Given the description of an element on the screen output the (x, y) to click on. 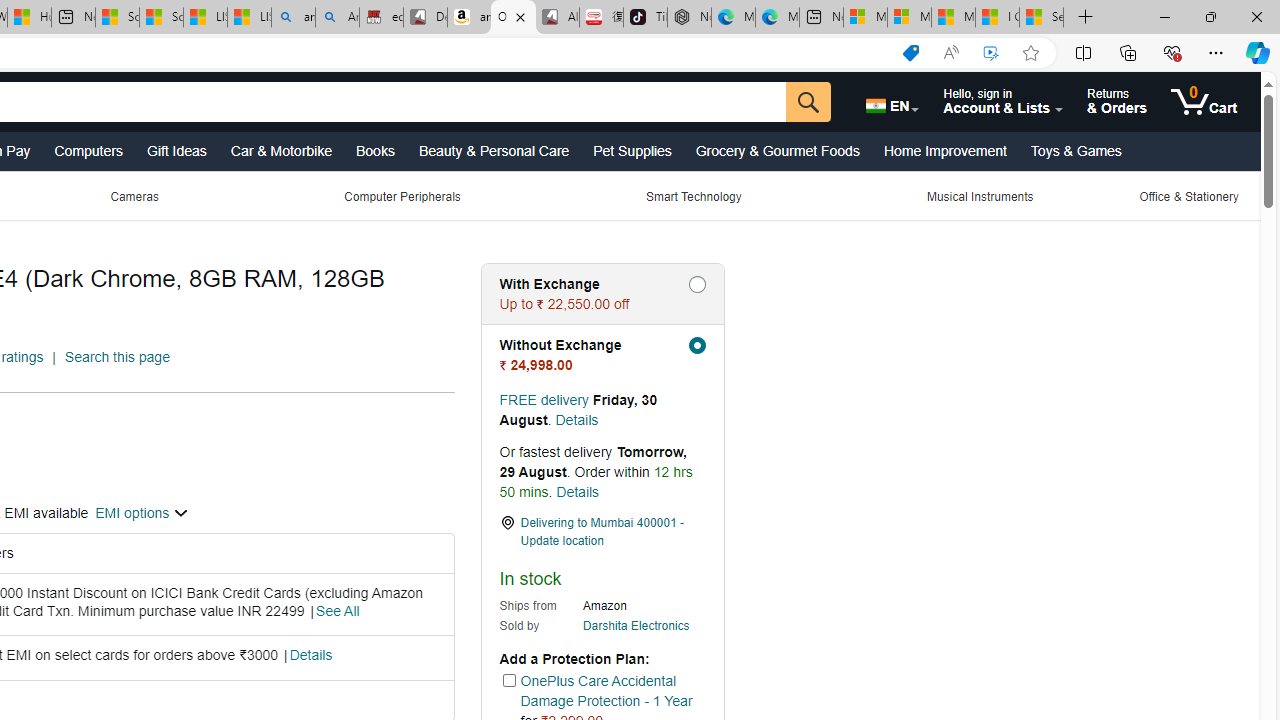
Books (375, 150)
All Cubot phones (557, 17)
Darshita Electronics (635, 625)
Home Improvement (944, 150)
Microsoft Start (953, 17)
Returns & Orders (1116, 101)
